Given the description of an element on the screen output the (x, y) to click on. 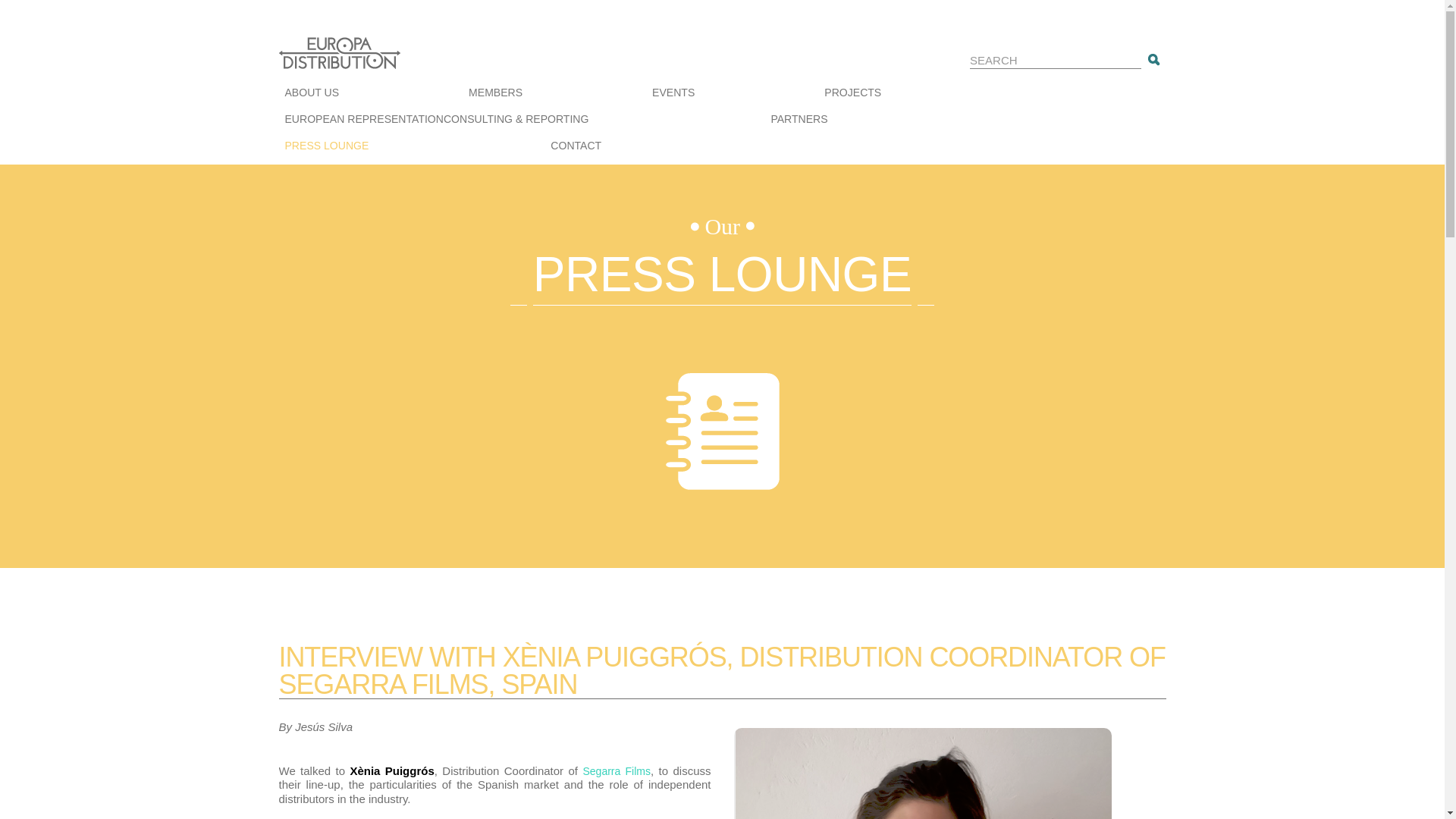
EUROPEAN REPRESENTATION (364, 121)
EVENTS (673, 94)
PARTNERS (798, 121)
ABOUT US (312, 94)
PRESS LOUNGE (327, 148)
Europa Distribution (354, 60)
Search (1155, 58)
MEMBERS (495, 94)
Search (1155, 58)
CONTACT (575, 148)
Segarra Films (616, 770)
PROJECTS (852, 94)
